Given the description of an element on the screen output the (x, y) to click on. 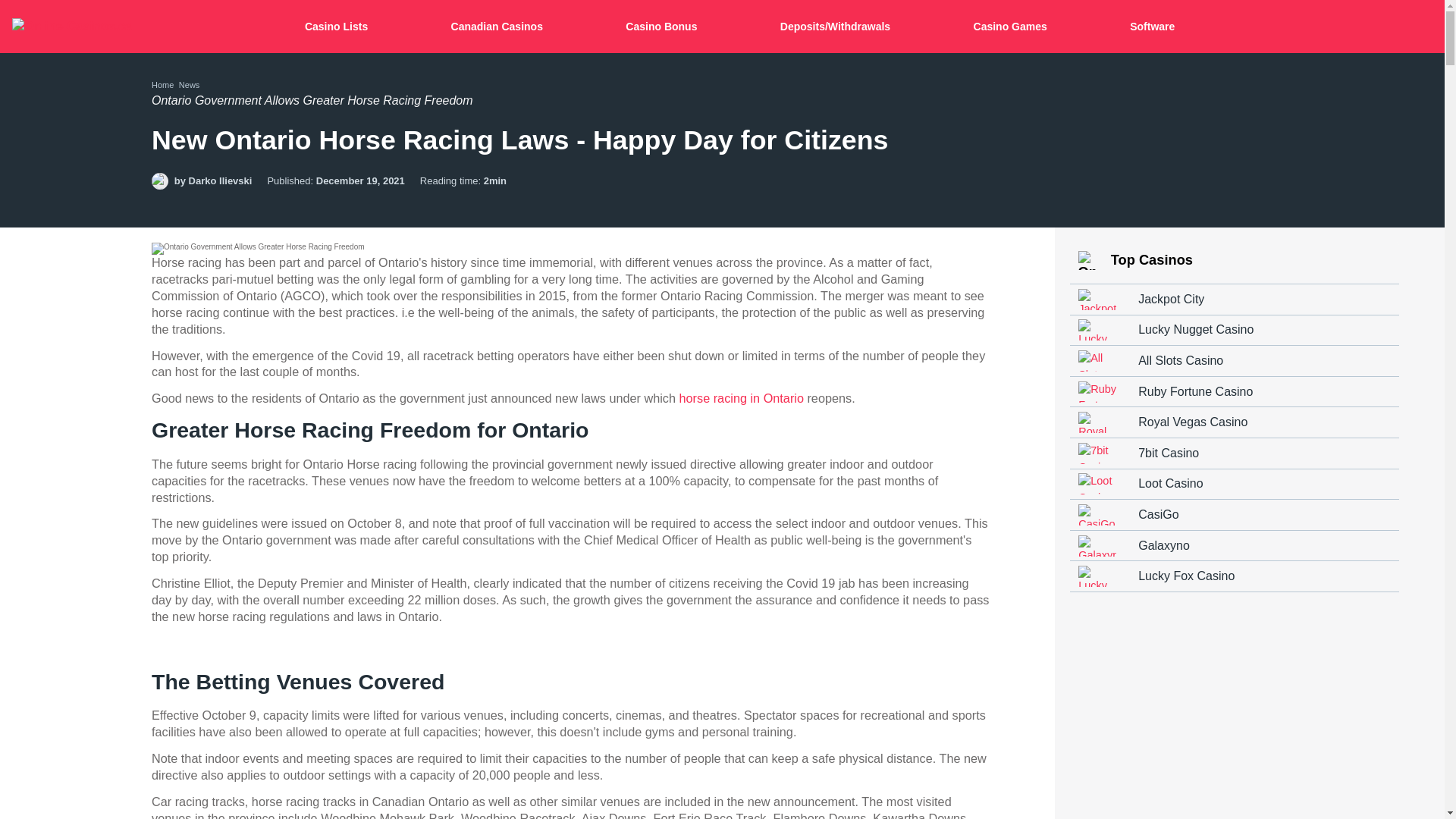
Casino Bonus (663, 26)
Canadian Casinos (499, 26)
Casino Lists (339, 26)
